Given the description of an element on the screen output the (x, y) to click on. 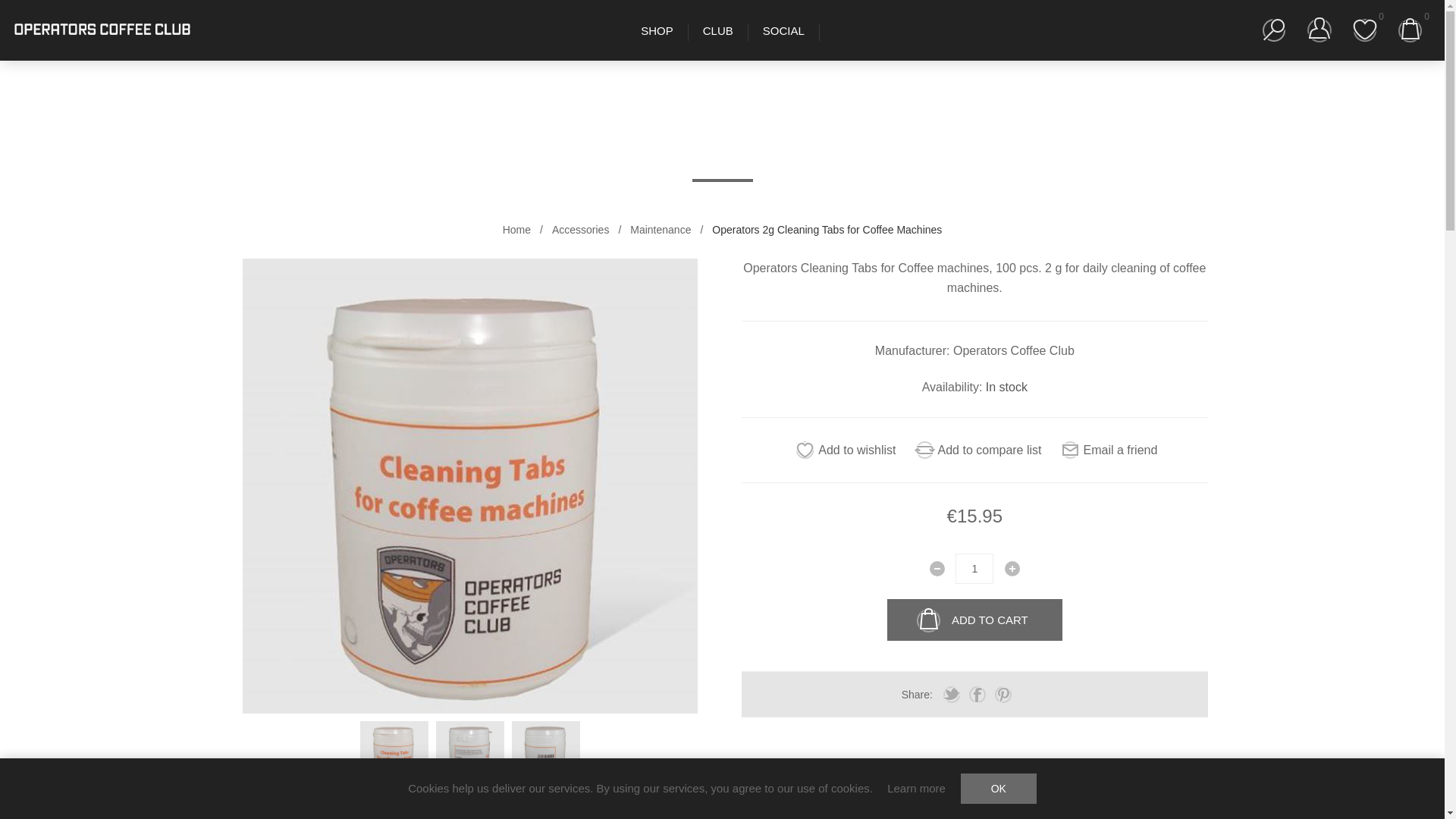
Email a friend (1107, 449)
1 (973, 568)
CLUB (717, 30)
Operators Coffee Club (102, 30)
Add to wishlist (843, 449)
Add to compare list (976, 449)
SOCIAL (783, 30)
